Given the description of an element on the screen output the (x, y) to click on. 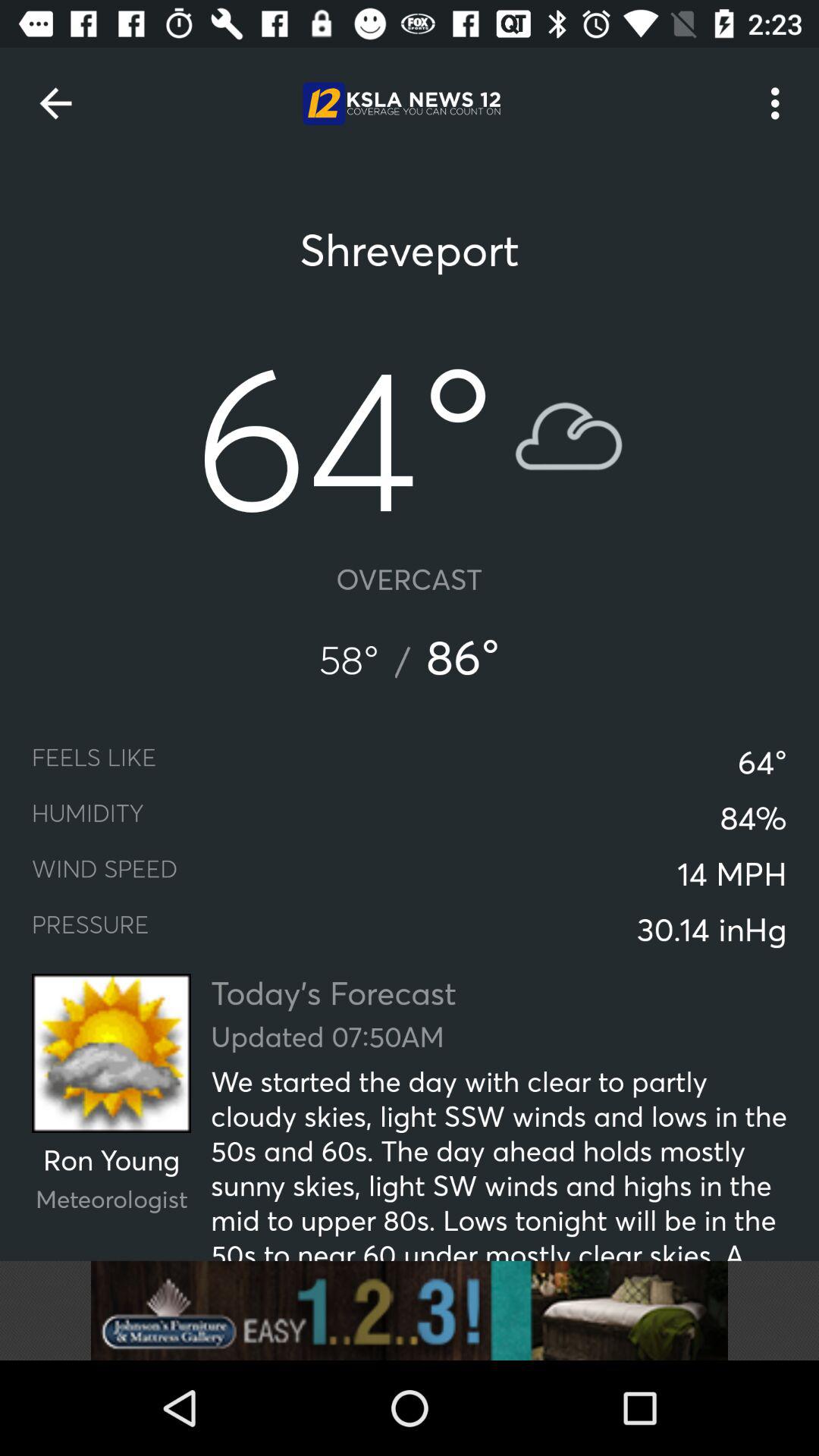
go to advertisement (409, 1310)
